Given the description of an element on the screen output the (x, y) to click on. 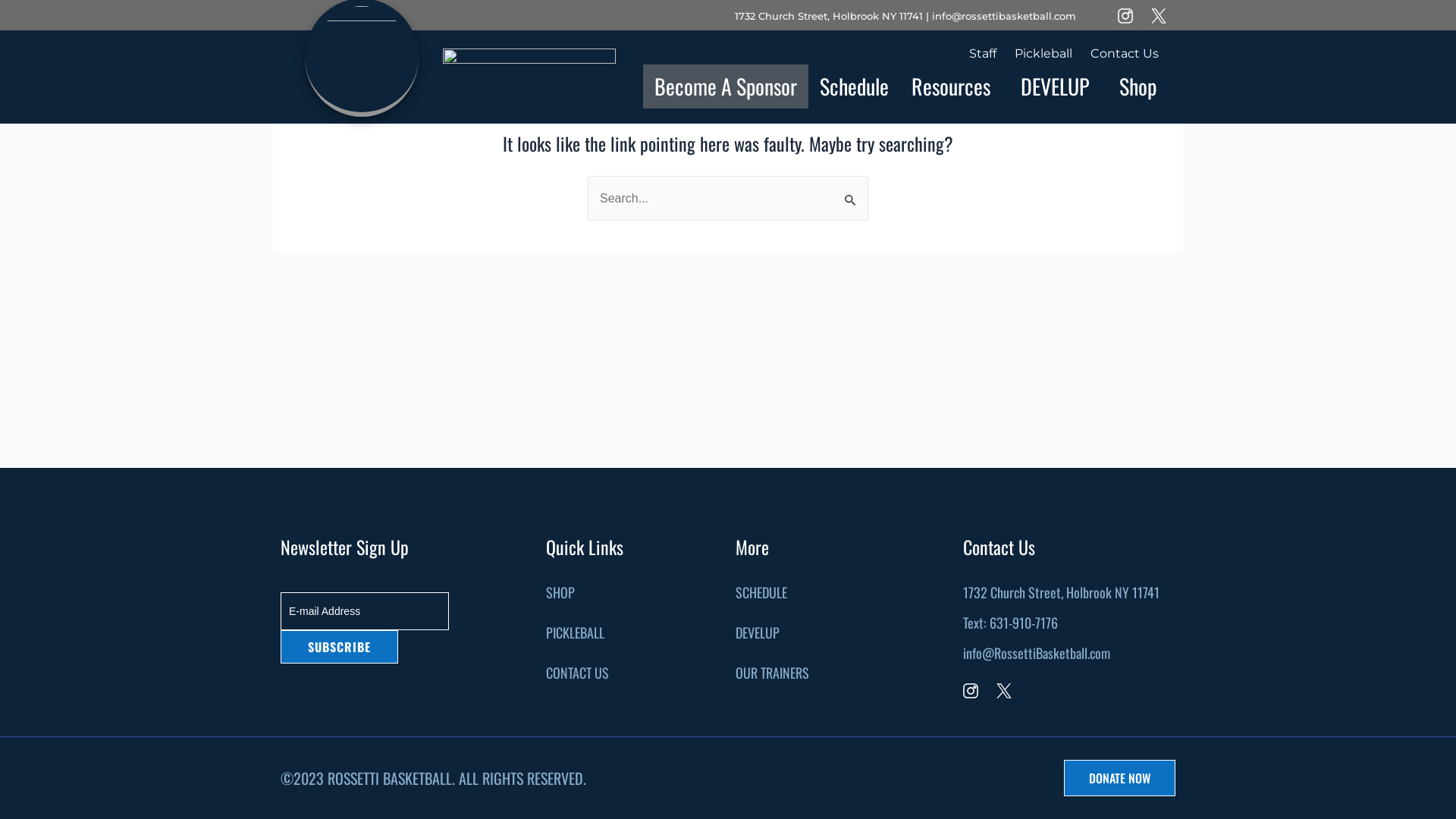
info@RossettiBasketball.com Element type: text (1036, 652)
SHOP Element type: text (560, 592)
SCHEDULE Element type: text (761, 592)
CONTACT US Element type: text (577, 672)
Pickleball Element type: text (1043, 53)
PICKLEBALL Element type: text (575, 632)
Subscribe Element type: text (339, 646)
Contact Us Element type: text (1124, 53)
Schedule Element type: text (854, 86)
Search Element type: text (851, 191)
DEVELUP Element type: text (757, 632)
Staff Element type: text (982, 53)
Shop Element type: text (1137, 86)
Resources Element type: text (954, 86)
DEVELUP Element type: text (1058, 86)
DONATE NOW Element type: text (1119, 777)
OUR TRAINERS Element type: text (772, 672)
Become A Sponsor Element type: text (725, 86)
